Given the description of an element on the screen output the (x, y) to click on. 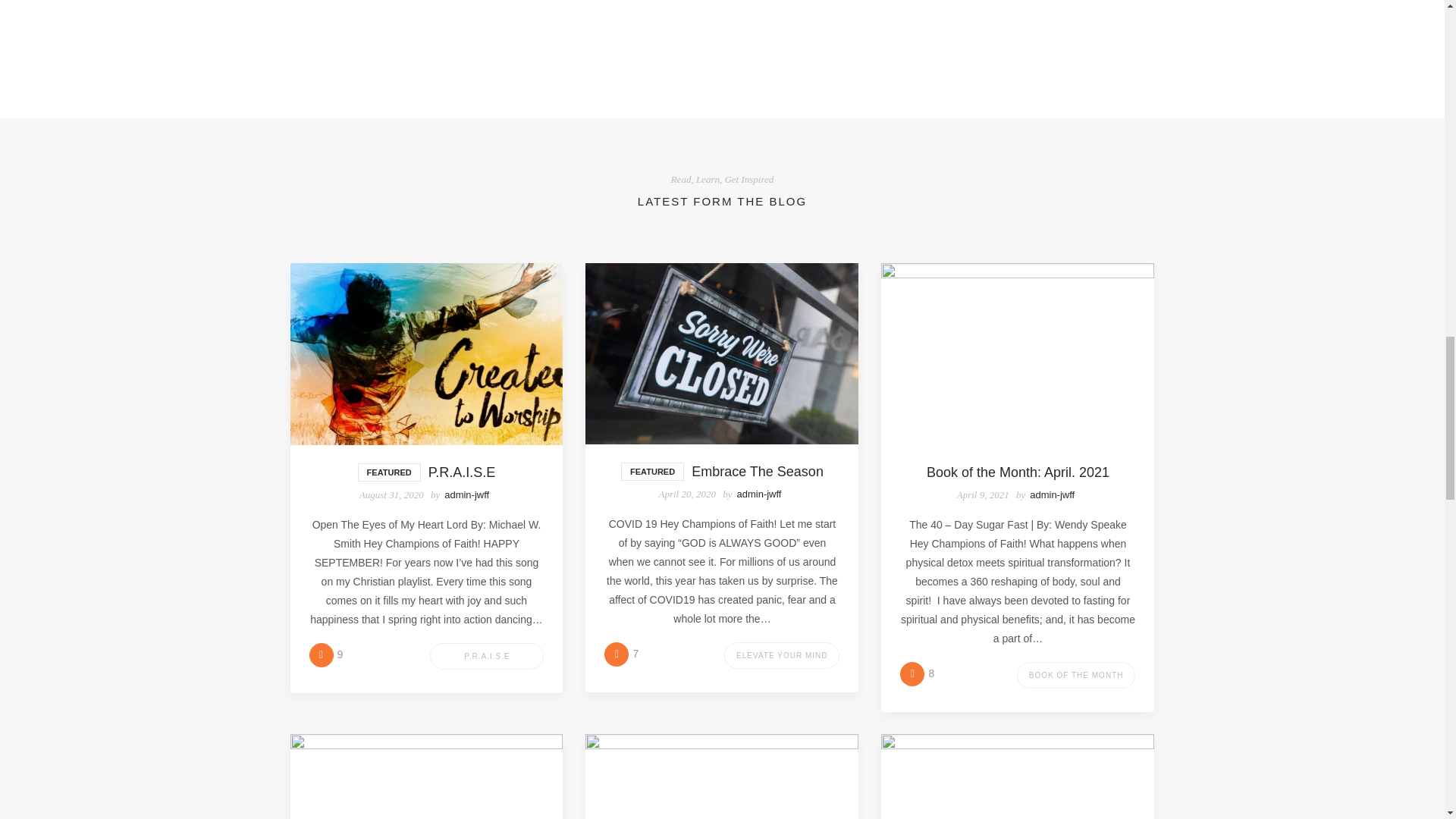
admin-jwff (758, 493)
ELEVATE YOUR MIND (781, 655)
admin-jwff (466, 494)
FEATUREDP.R.A.I.S.E (426, 472)
admin-jwff (1051, 494)
BOOK OF THE MONTH (1075, 674)
P.R.A.I.S.E (486, 655)
Posts by admin-jwff (1051, 494)
9 (325, 654)
FEATUREDEmbrace The Season (722, 471)
Posts by admin-jwff (466, 494)
Posts by admin-jwff (758, 493)
8 (916, 673)
7 (621, 653)
Book of the Month: April. 2021 (1017, 472)
